Given the description of an element on the screen output the (x, y) to click on. 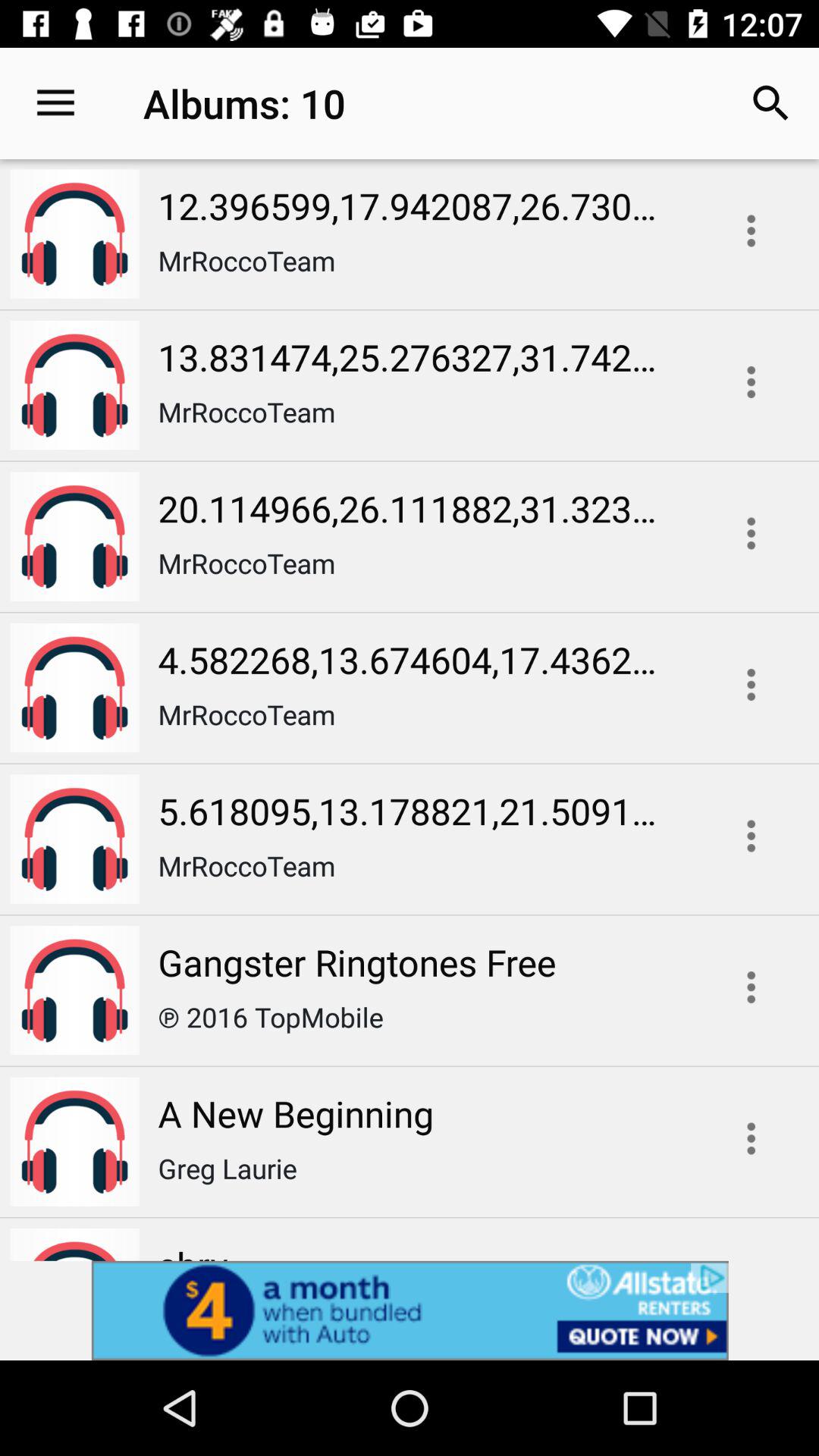
open a list of actions to do to the track (750, 835)
